Given the description of an element on the screen output the (x, y) to click on. 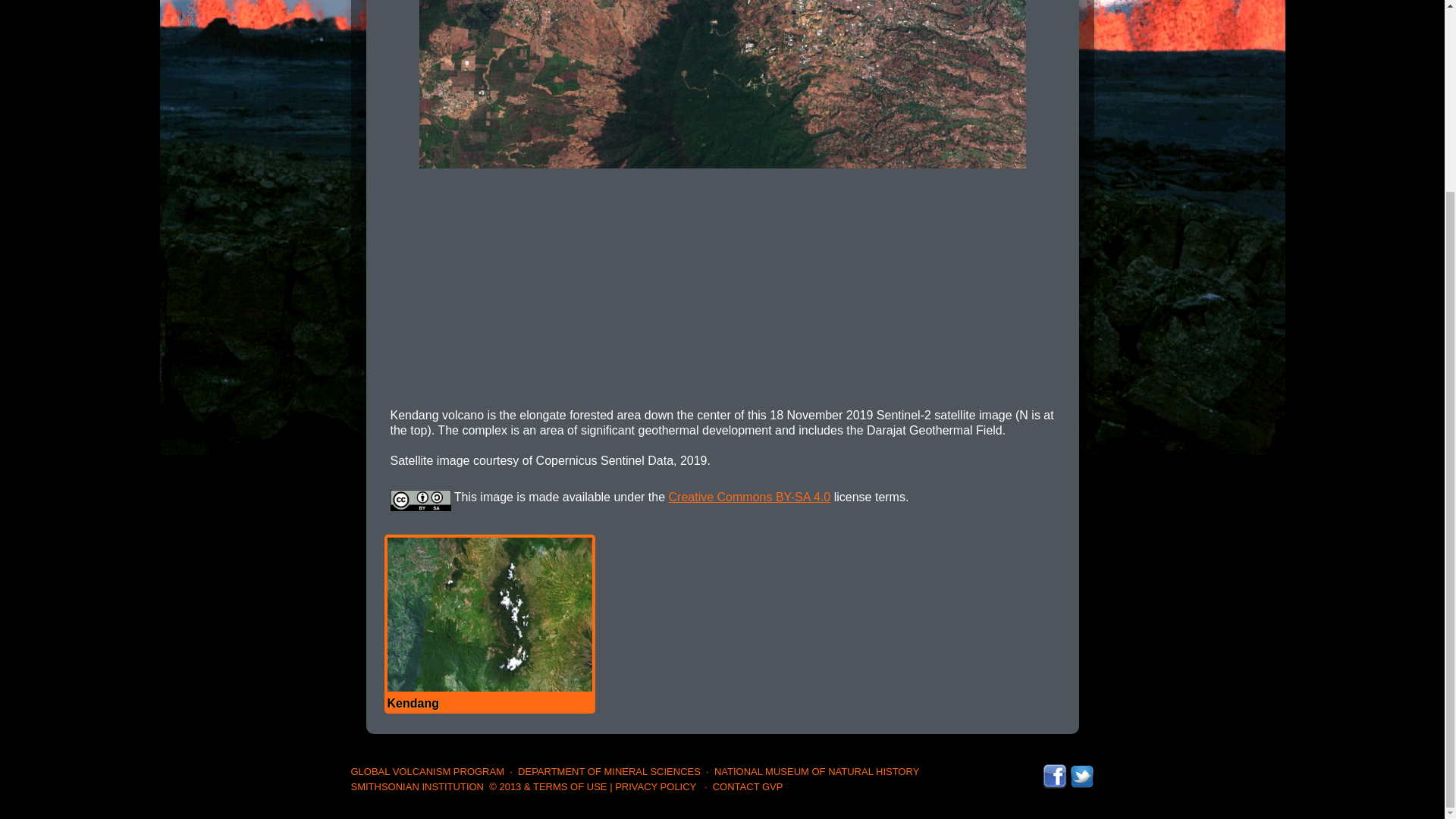
Send email to GVP (748, 785)
Twitter (1080, 770)
Kendang (489, 623)
Creative Commons BY-SA 4.0 (749, 496)
Facebook (1054, 770)
Link to Copyright Notice and Terms of Use (548, 785)
GLOBAL VOLCANISM PROGRAM (426, 770)
Link to Privacy Notice (654, 785)
